Given the description of an element on the screen output the (x, y) to click on. 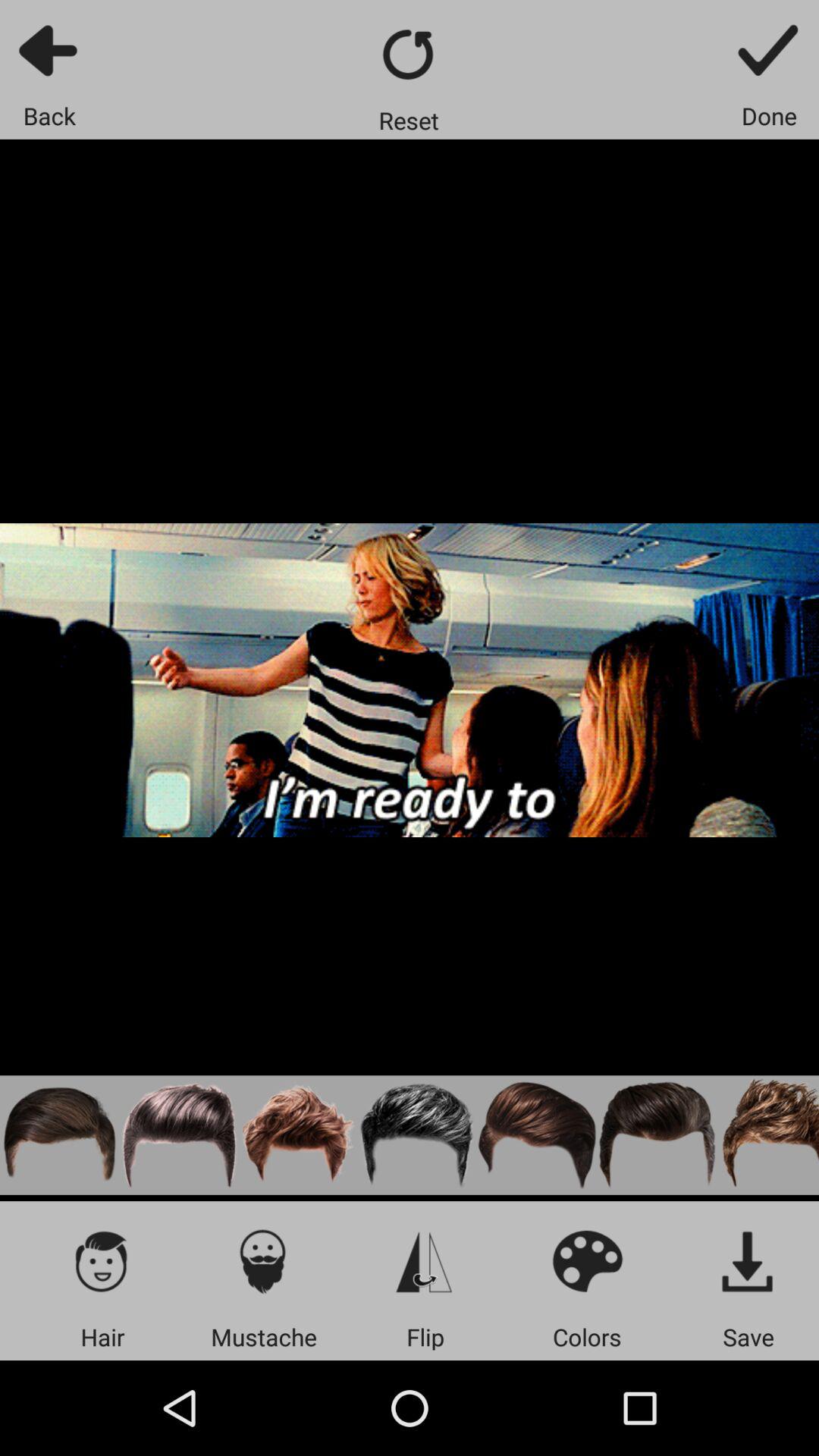
select hair style option (298, 1134)
